Given the description of an element on the screen output the (x, y) to click on. 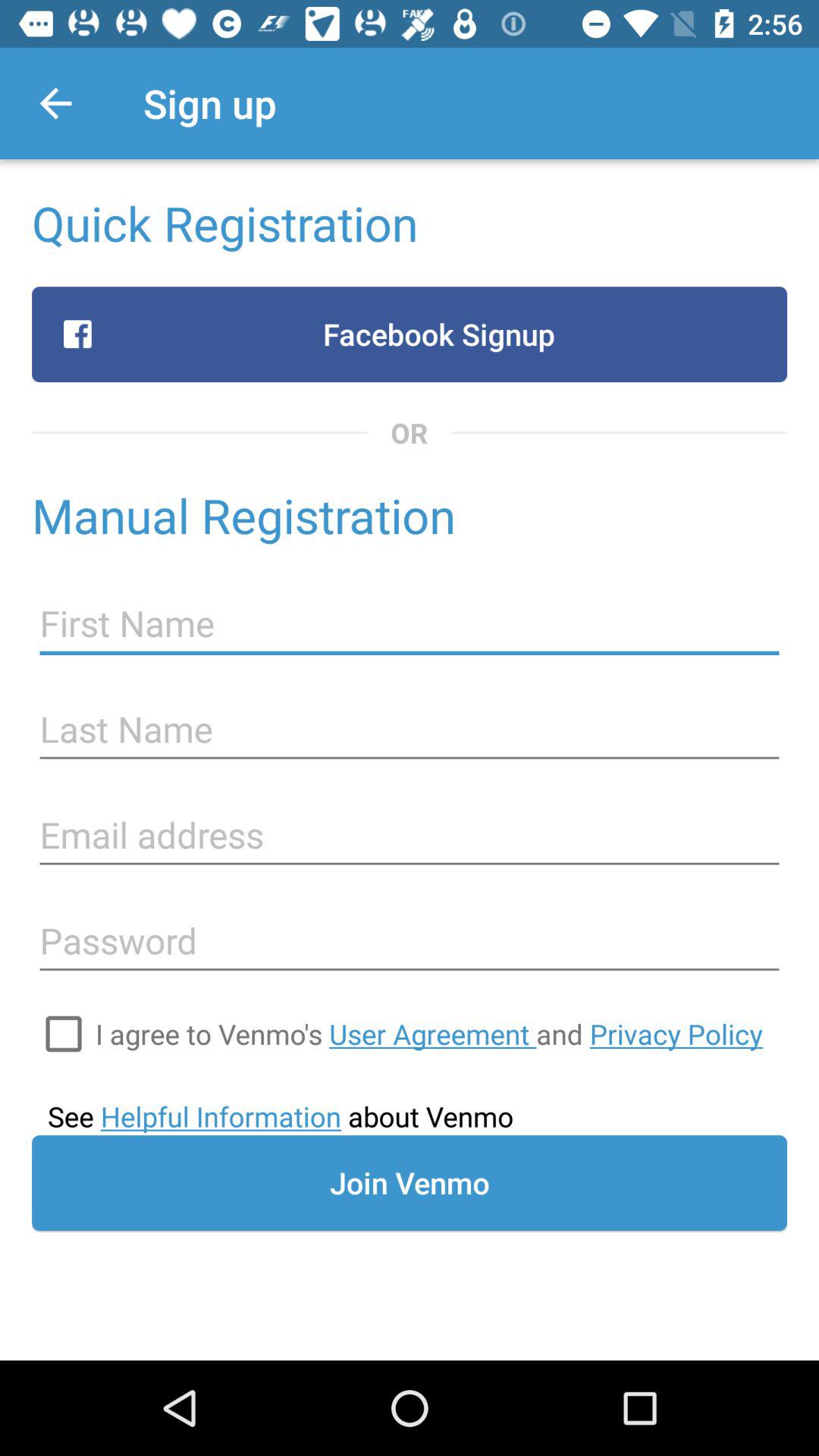
fill in your last name (409, 729)
